Given the description of an element on the screen output the (x, y) to click on. 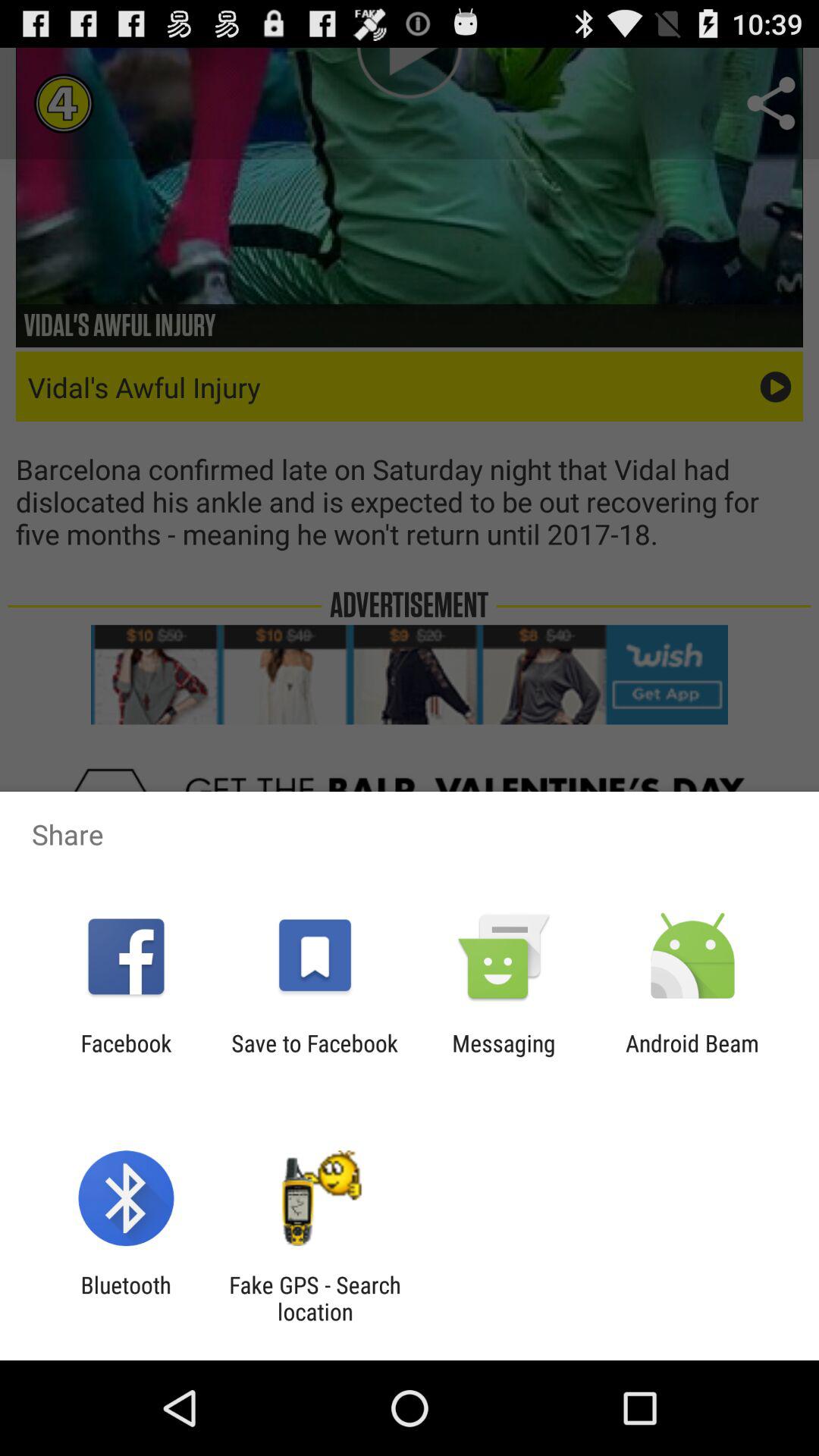
choose app to the left of the fake gps search item (125, 1298)
